Given the description of an element on the screen output the (x, y) to click on. 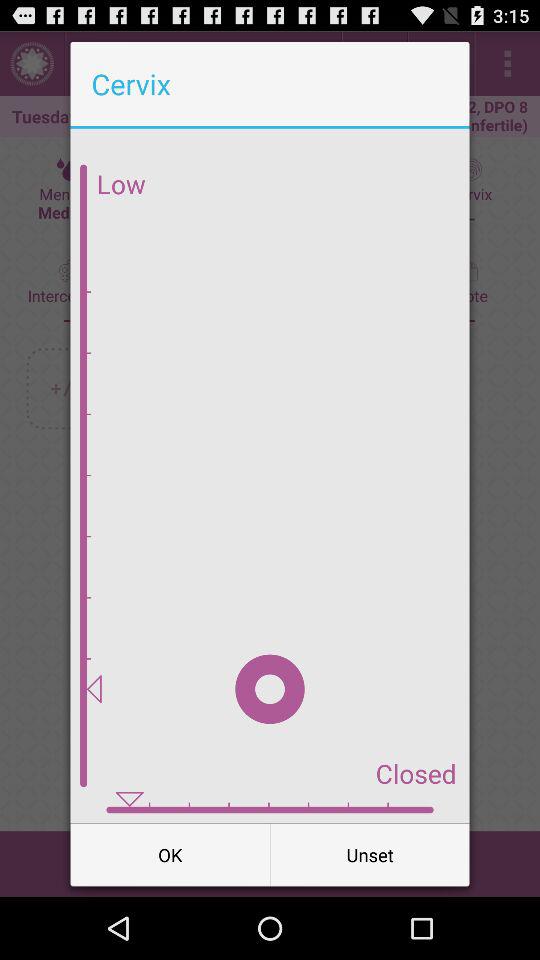
launch the unset icon (369, 854)
